Given the description of an element on the screen output the (x, y) to click on. 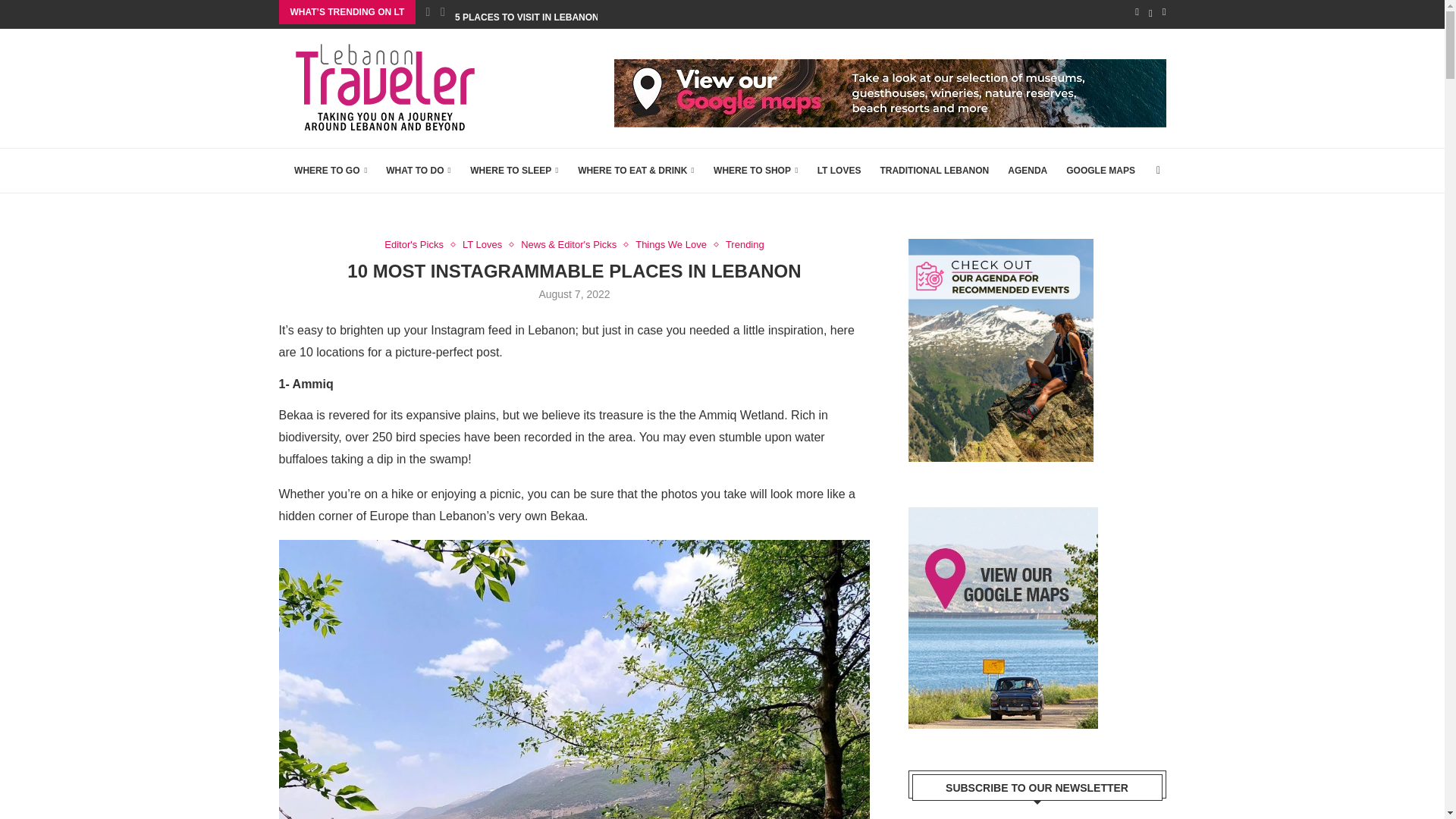
WHERE TO GO (330, 170)
5 PLACES TO VISIT IN LEBANON FOR FIRST-TIME... (567, 16)
